Given the description of an element on the screen output the (x, y) to click on. 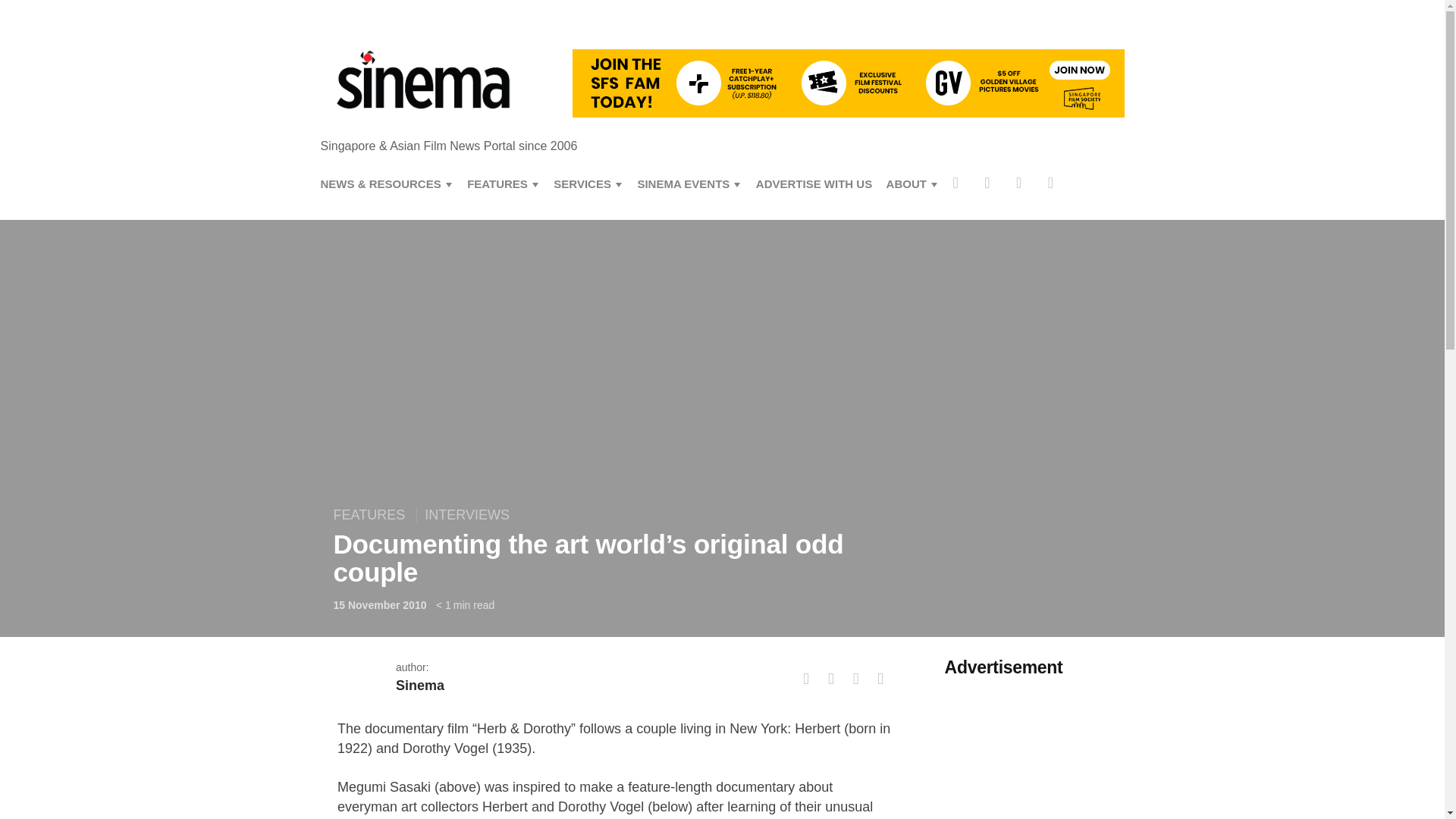
Posts by Sinema (420, 685)
INTERVIEWS (466, 513)
FEATURES (373, 513)
